Given the description of an element on the screen output the (x, y) to click on. 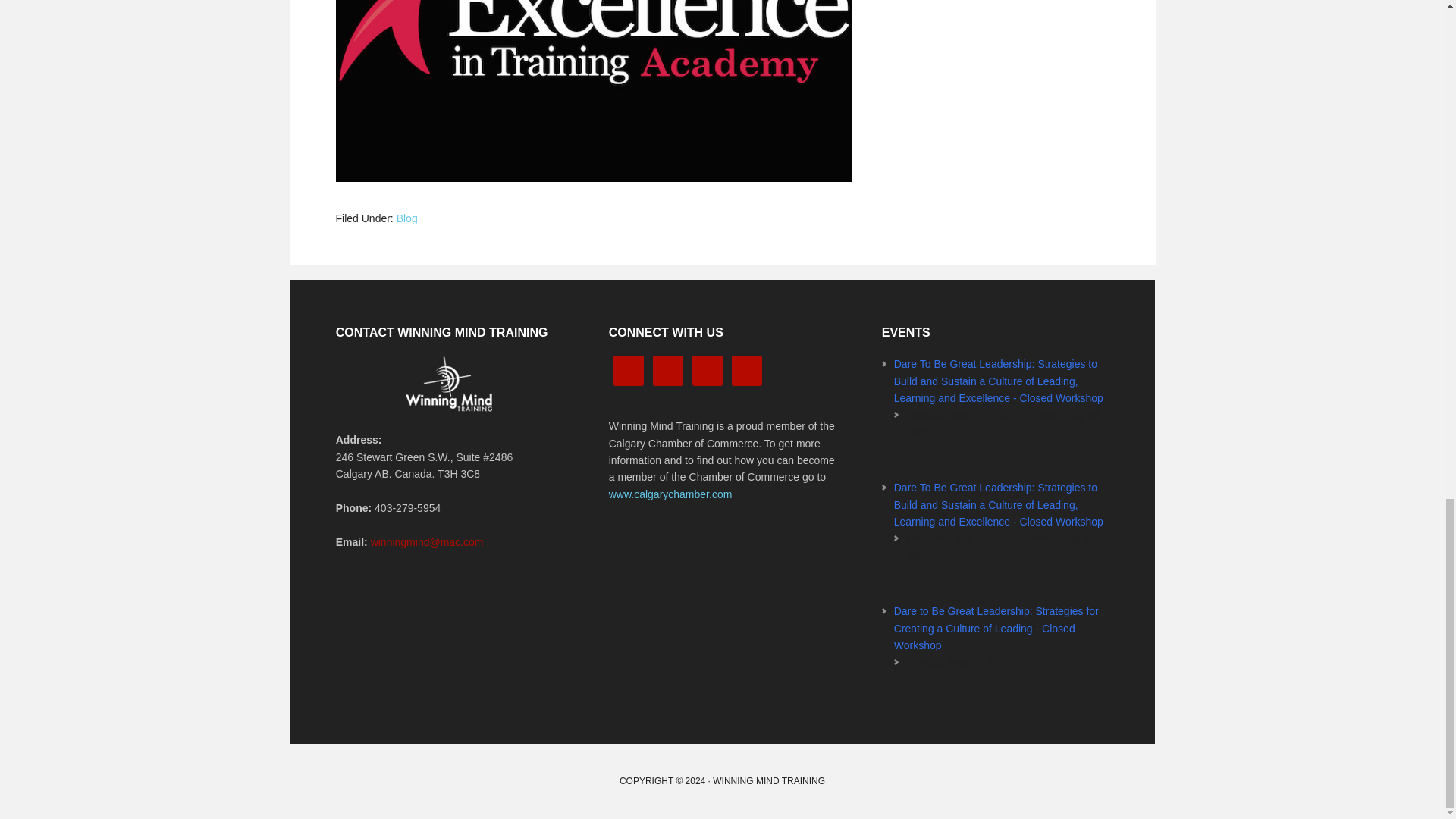
www.calgarychamber.com (670, 494)
Blog (406, 218)
